Given the description of an element on the screen output the (x, y) to click on. 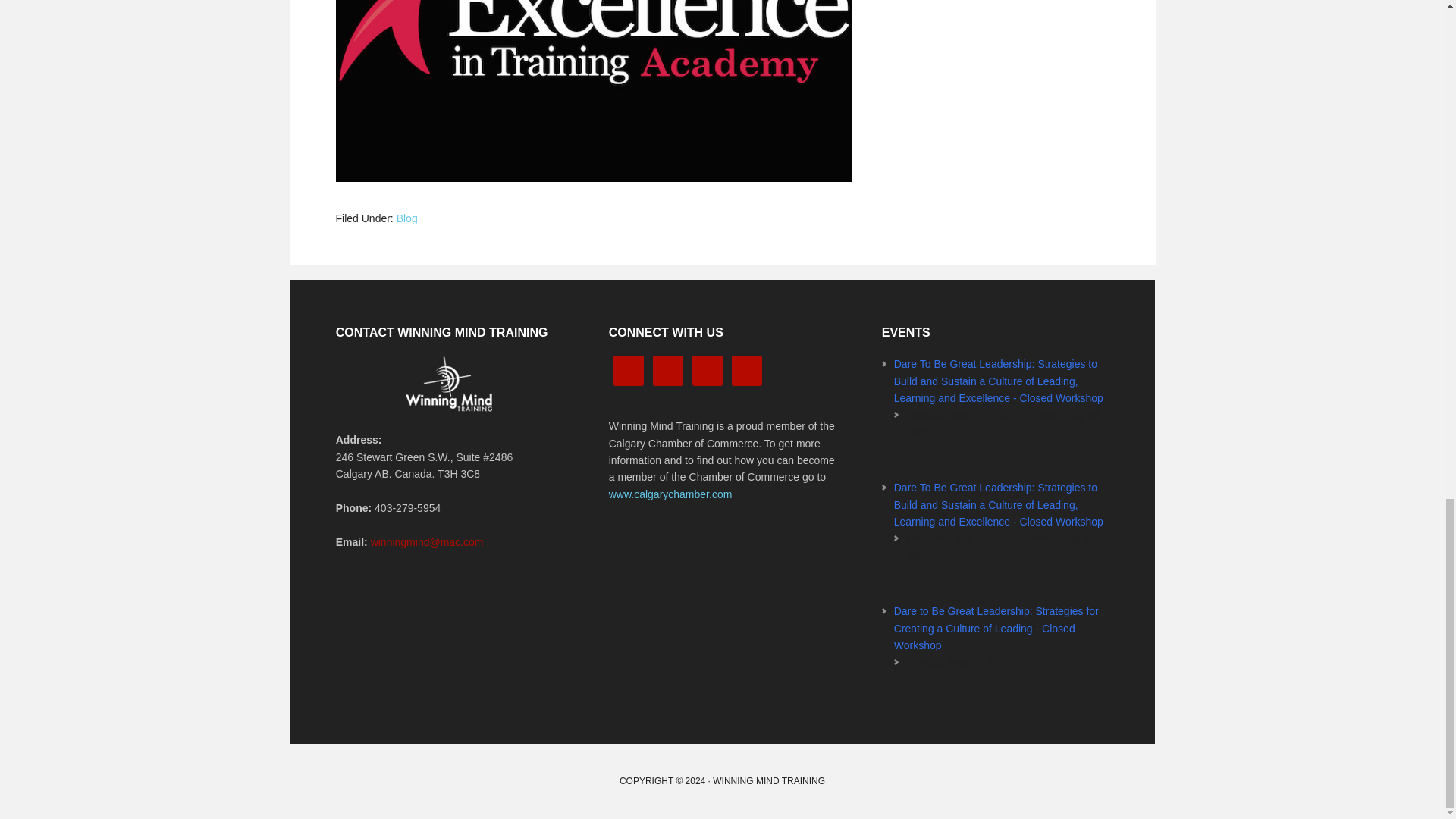
www.calgarychamber.com (670, 494)
Blog (406, 218)
